Given the description of an element on the screen output the (x, y) to click on. 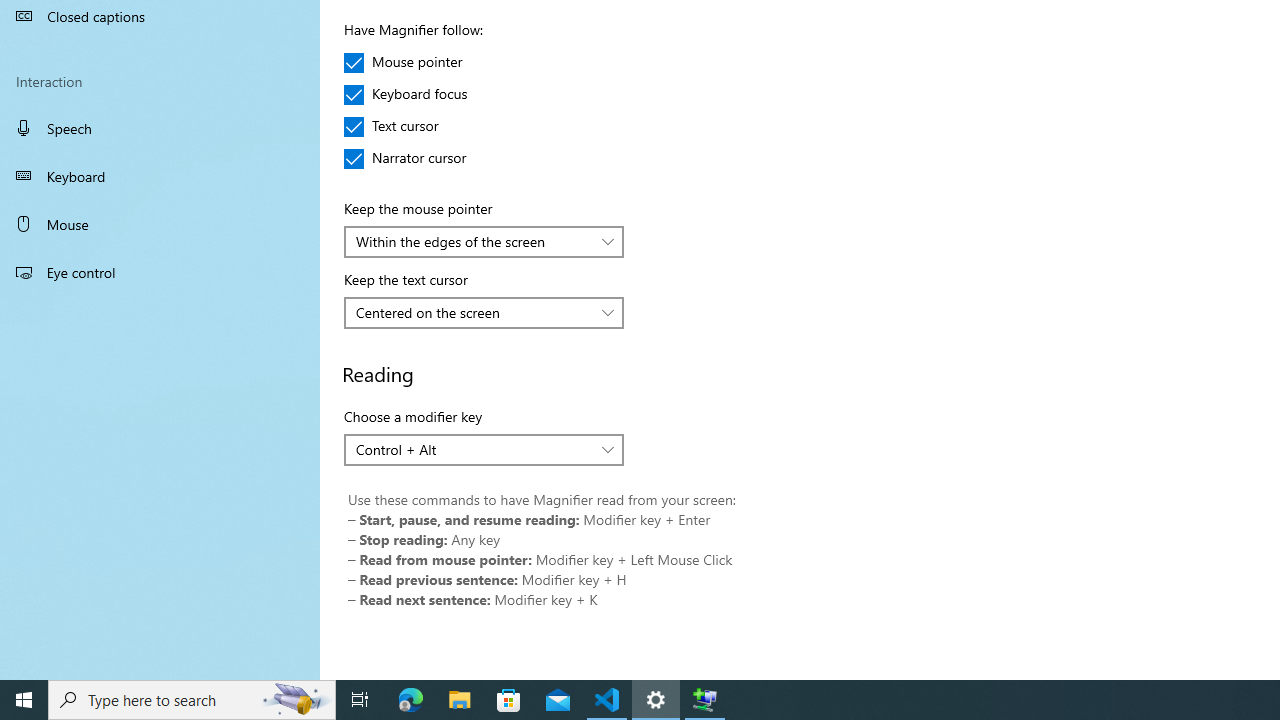
Within the edges of the screen (473, 241)
Keyboard focus (406, 94)
Keep the text cursor (484, 312)
Text cursor (403, 126)
Keep the mouse pointer (484, 241)
Centered on the screen (473, 312)
Control + Alt (473, 449)
Mouse (160, 223)
